Given the description of an element on the screen output the (x, y) to click on. 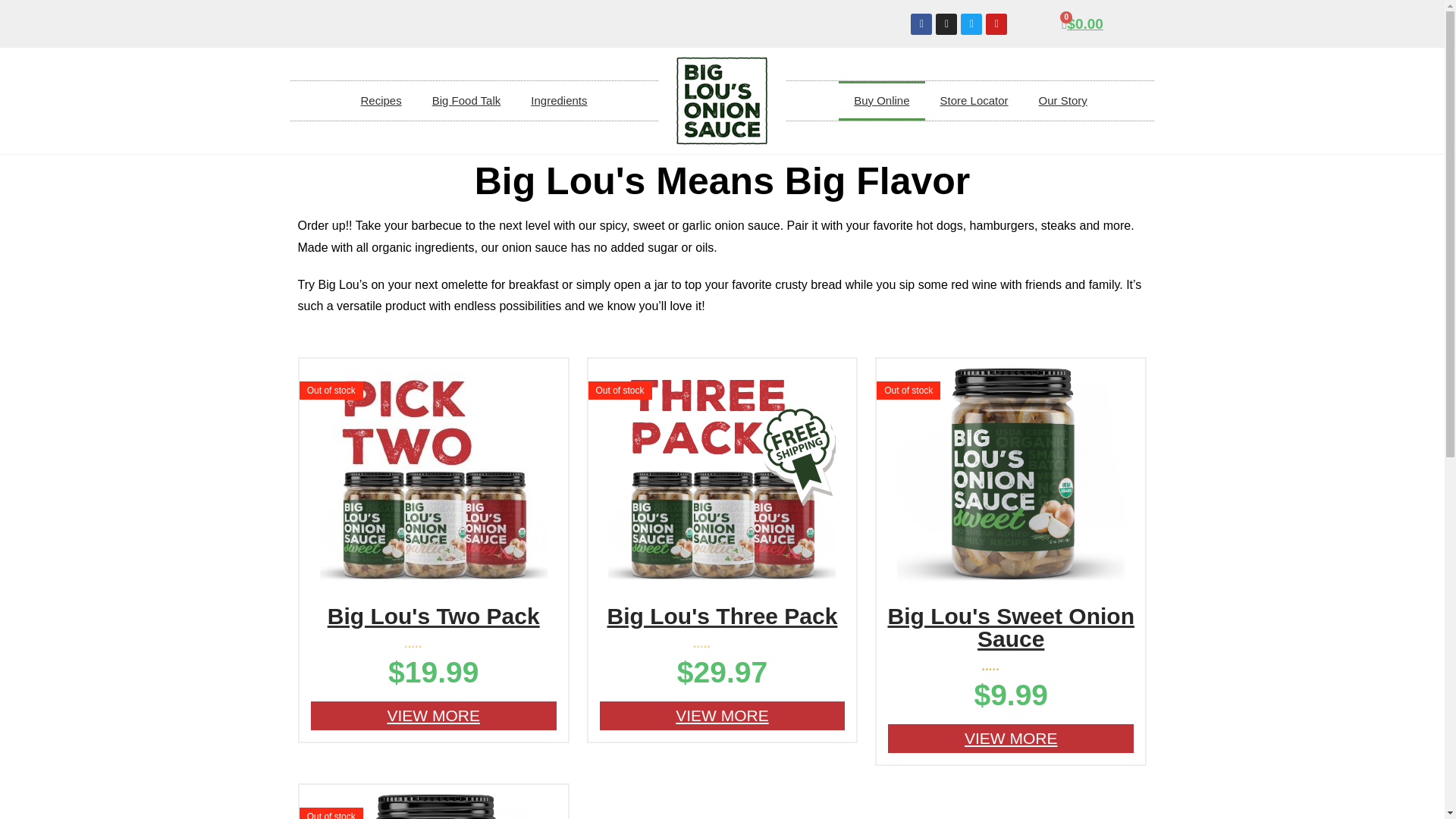
Our Story (1062, 100)
Big Lou'S Three Pack (722, 616)
Store Locator (973, 100)
Recipes (380, 100)
Big Food Talk (466, 100)
Big Lou'S Two Pack (433, 616)
Buy Online (881, 100)
VIEW MORE (433, 715)
Ingredients (558, 100)
